Given the description of an element on the screen output the (x, y) to click on. 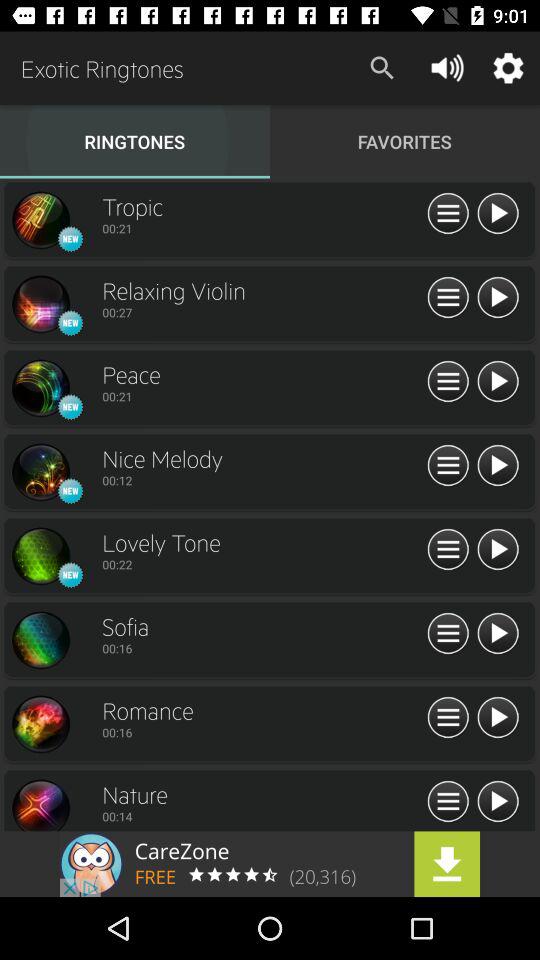
choice (40, 640)
